Given the description of an element on the screen output the (x, y) to click on. 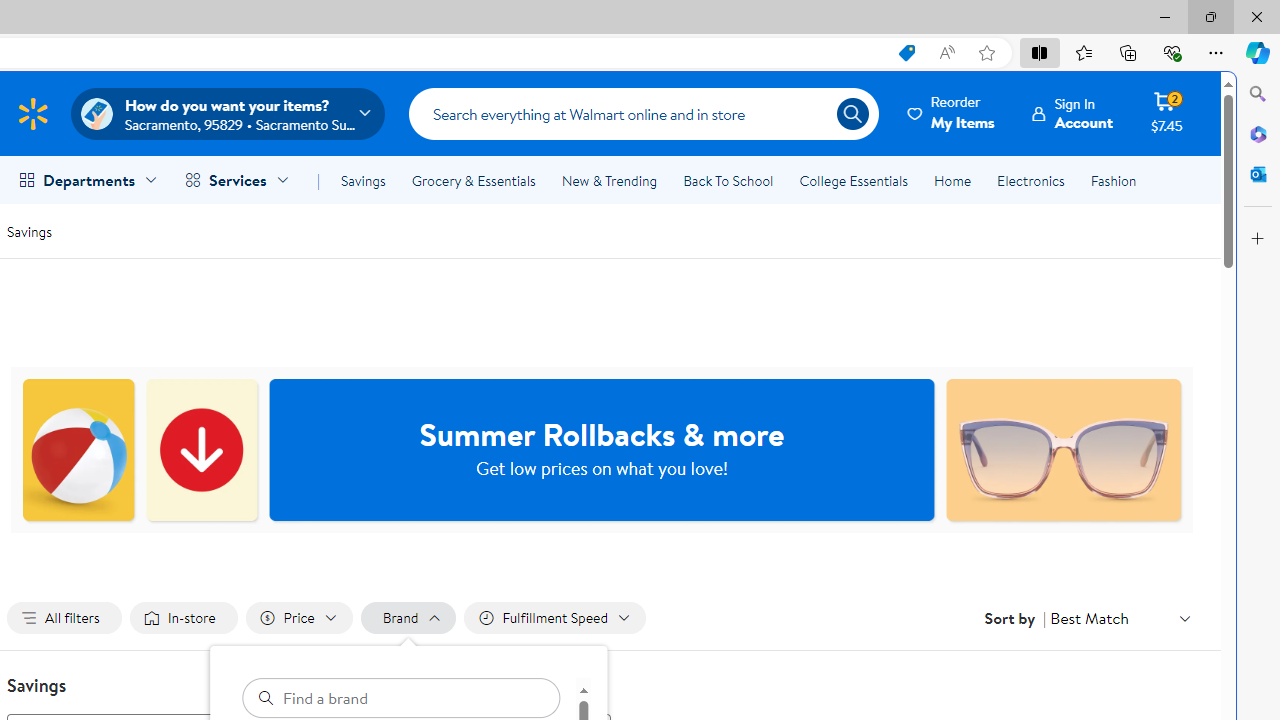
Back To School (728, 180)
Reorder My Items (952, 113)
This site has coupons! Shopping in Microsoft Edge, 7 (906, 53)
Sign InAccount (1072, 113)
Savings (363, 180)
Filter by Fulfillment Speed not applied, activate to change (554, 618)
College Essentials (852, 180)
Sign In Account (1072, 113)
College Essentials (852, 180)
